Given the description of an element on the screen output the (x, y) to click on. 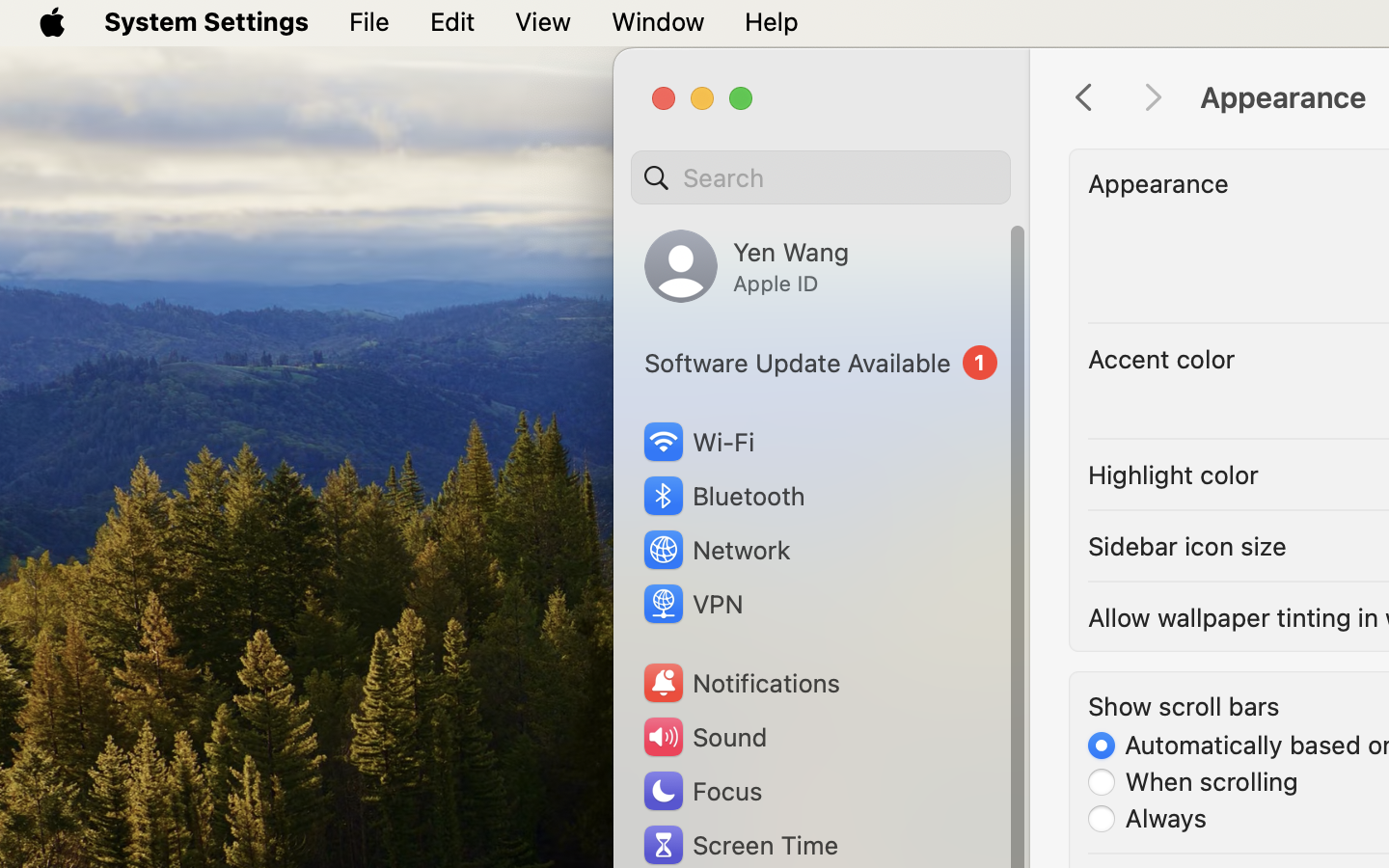
Appearance Element type: AXStaticText (1158, 182)
1 Element type: AXStaticText (820, 362)
Yen Wang, Apple ID Element type: AXStaticText (746, 265)
Highlight color Element type: AXStaticText (1173, 474)
Show scroll bars Element type: AXStaticText (1183, 705)
